Given the description of an element on the screen output the (x, y) to click on. 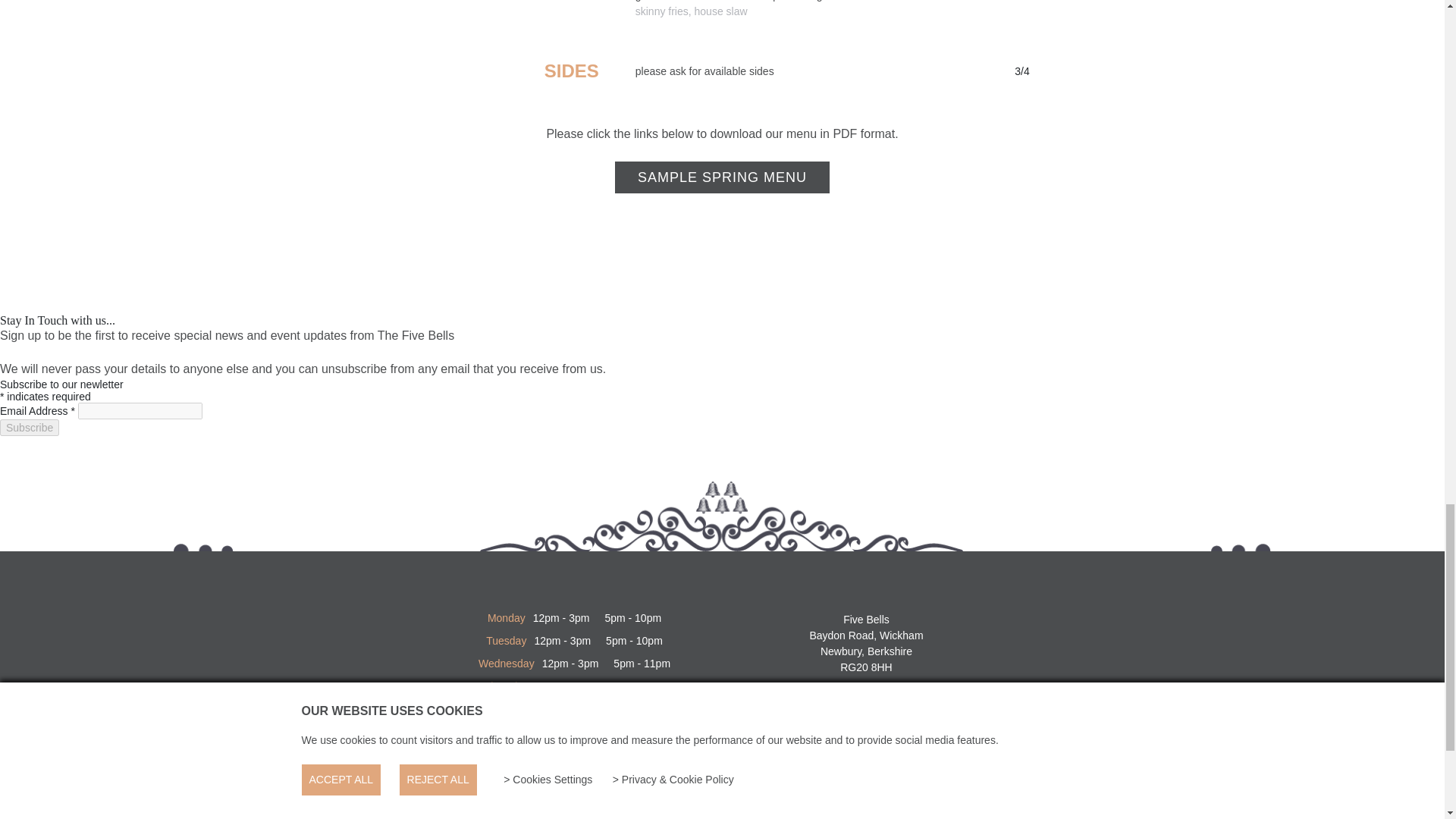
Directions (866, 762)
Subscribe (29, 427)
Subscribe (29, 427)
SAMPLE SPRING MENU (721, 177)
01488 657300 (877, 703)
